Given the description of an element on the screen output the (x, y) to click on. 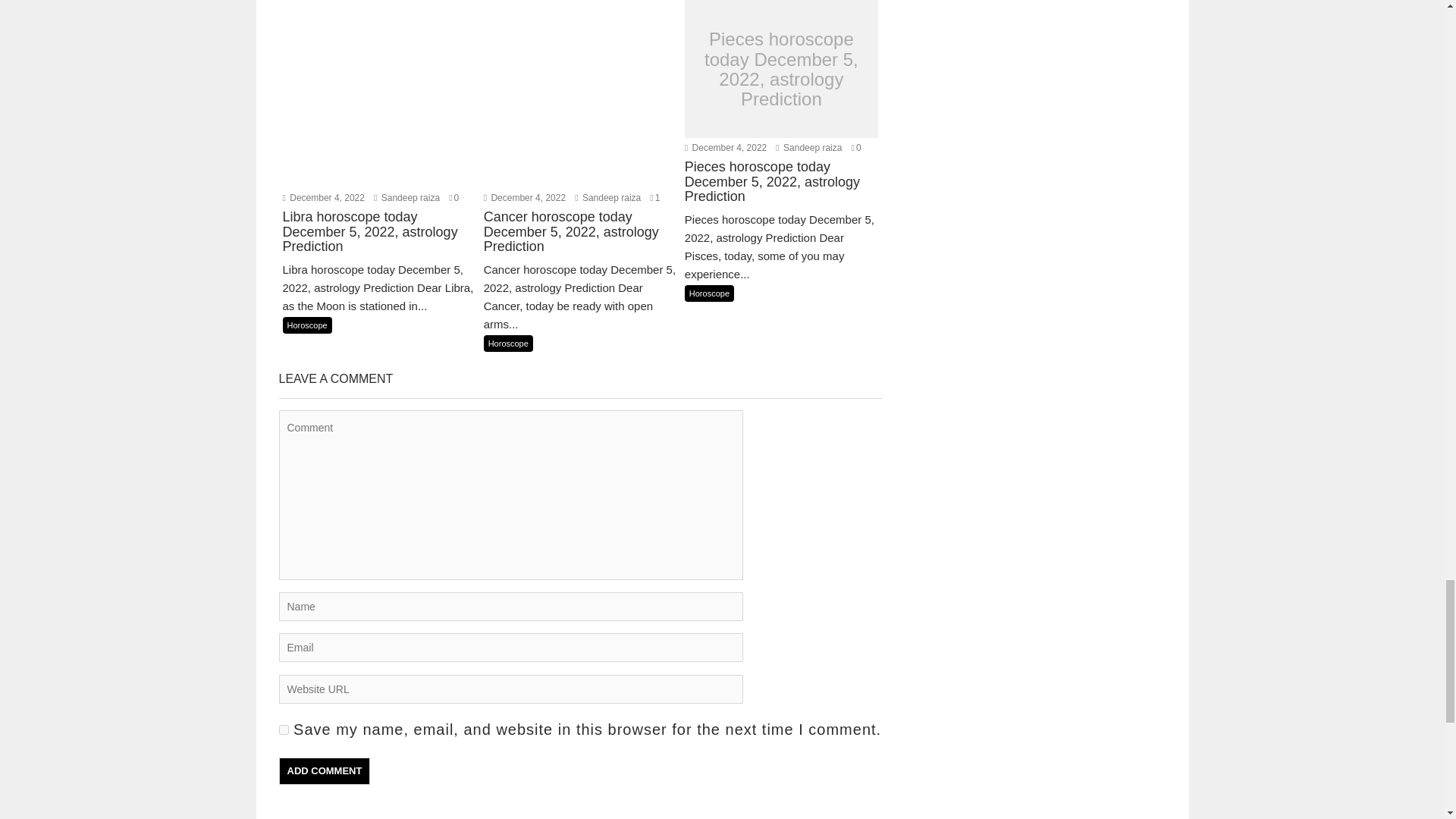
yes (283, 729)
Add Comment (325, 770)
